Given the description of an element on the screen output the (x, y) to click on. 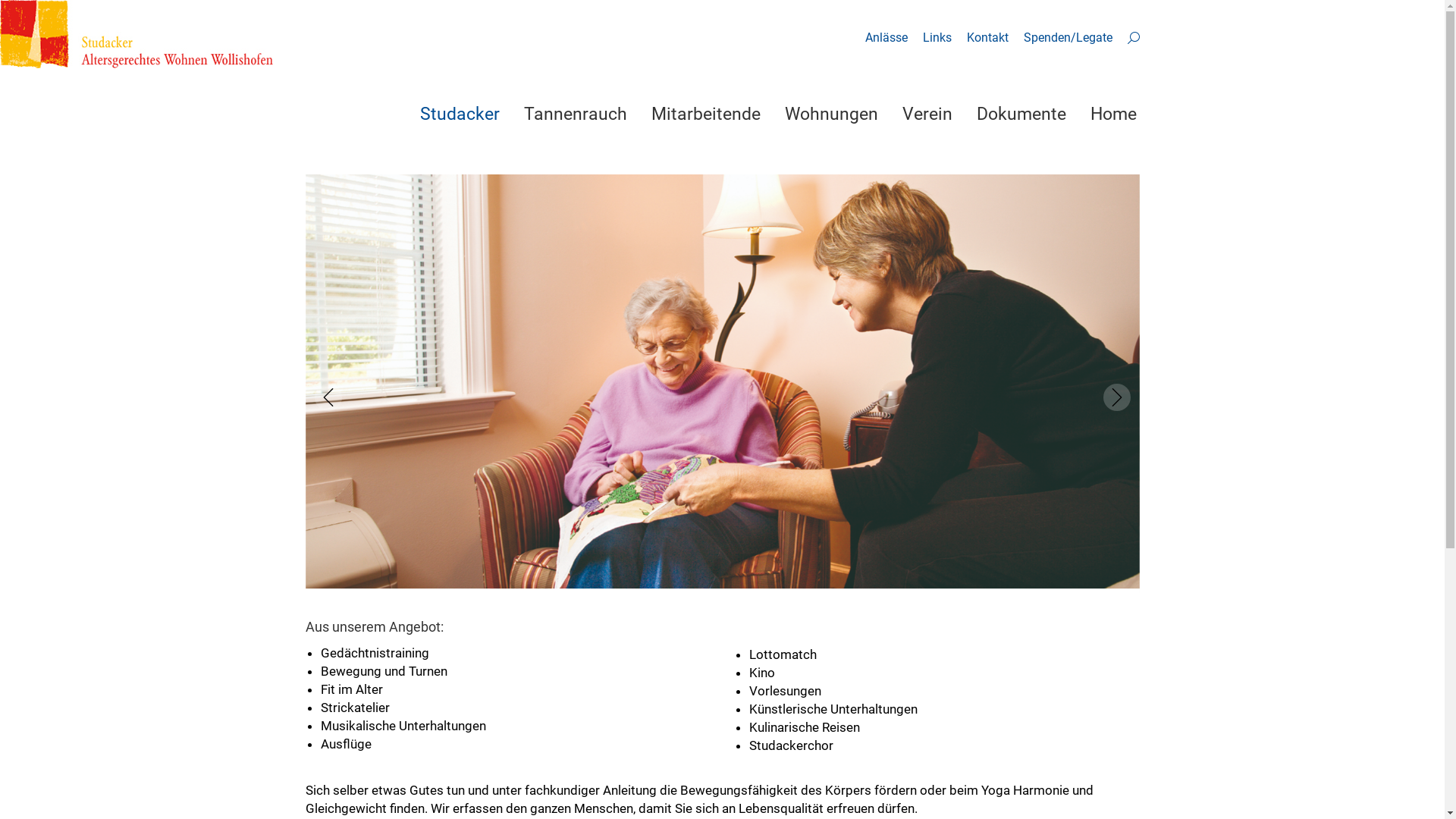
Dokumente Element type: text (1021, 113)
Tannenrauch Element type: text (574, 113)
Mitarbeitende Element type: text (704, 113)
Studacker Element type: text (459, 113)
Home Element type: text (1113, 113)
Spenden/Legate Element type: text (1067, 37)
Wohnungen Element type: text (830, 113)
Los! Element type: text (29, 19)
Verein Element type: text (927, 113)
Kontakt Element type: text (986, 37)
Links Element type: text (936, 37)
